Given the description of an element on the screen output the (x, y) to click on. 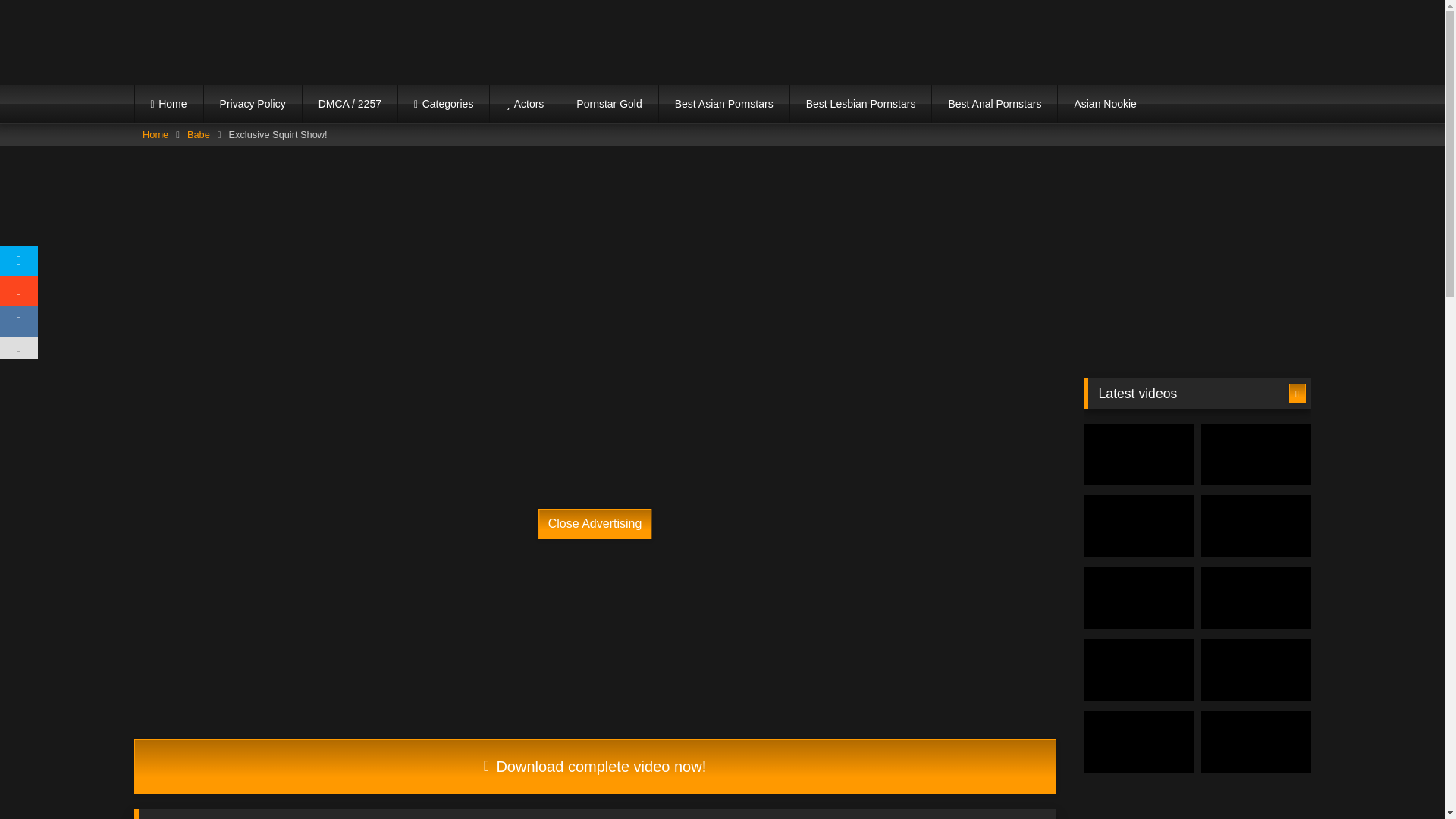
Babe (198, 134)
Categories (443, 103)
Actors (524, 103)
Exclusive Squirt Show! (594, 766)
Asian Nookie (1105, 103)
Best Lesbian Pornstars (860, 103)
Best Anal Pornstars (994, 103)
MyFoxyCams (247, 41)
Privacy Policy (252, 103)
